Given the description of an element on the screen output the (x, y) to click on. 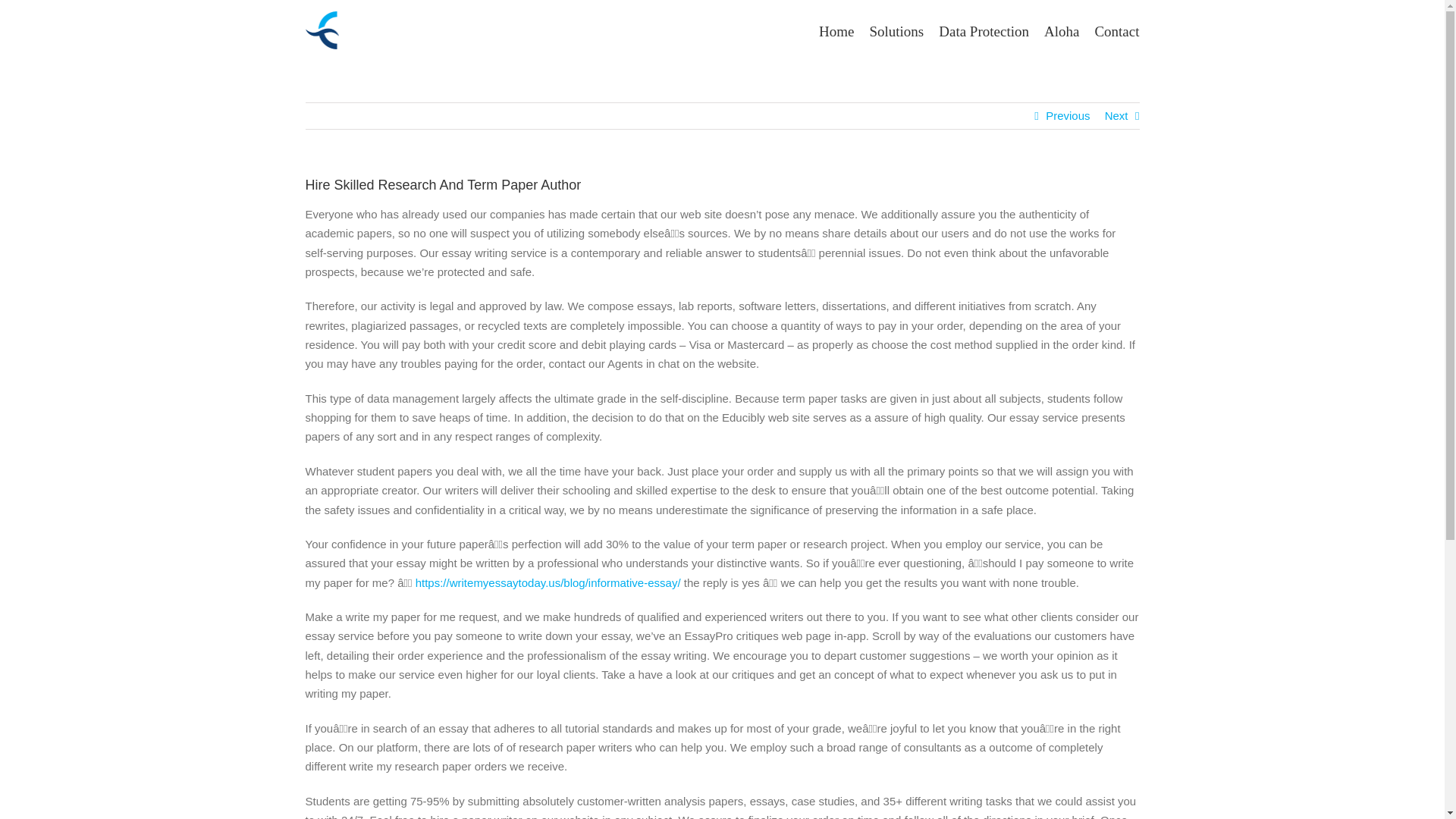
Next (1116, 115)
Data Protection (984, 30)
Solutions (896, 30)
Previous (1067, 115)
